Given the description of an element on the screen output the (x, y) to click on. 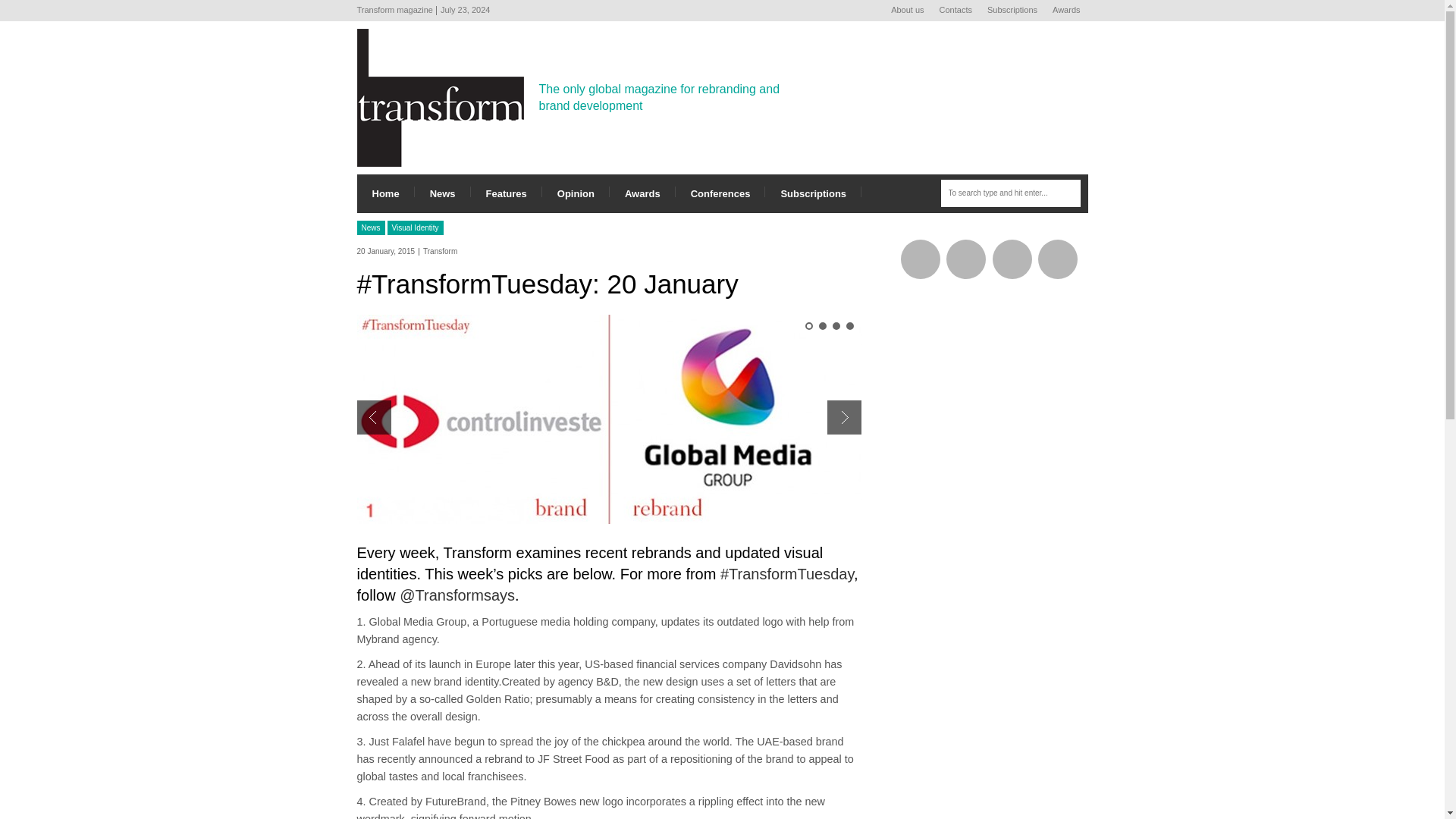
Awards (642, 193)
News (442, 193)
Awards (1066, 10)
Opinion (575, 193)
Features (505, 193)
Home (384, 193)
Subscriptions (1012, 10)
Contacts (955, 10)
About us (907, 10)
